Given the description of an element on the screen output the (x, y) to click on. 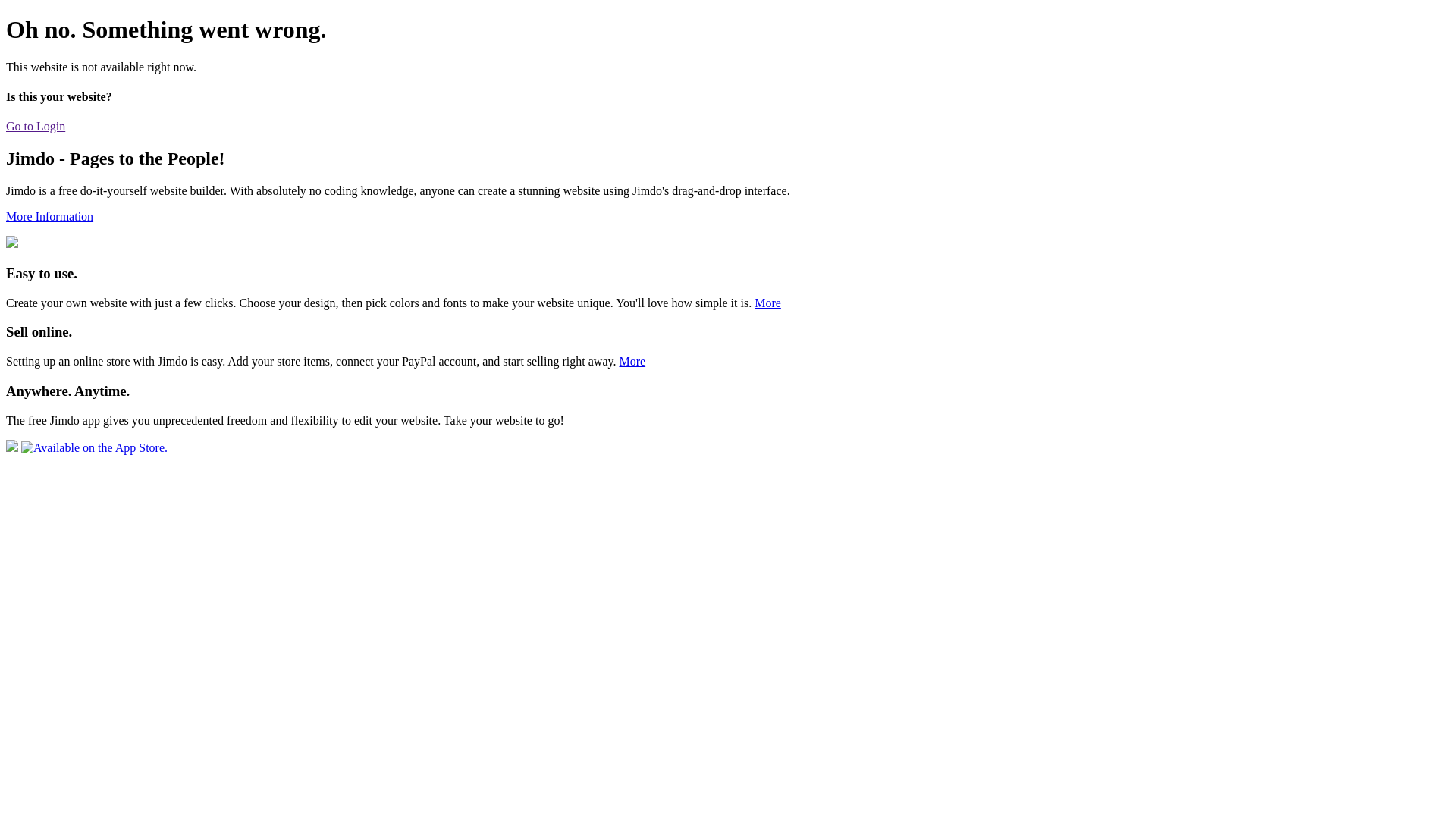
Available on the App Store. Element type: hover (86, 447)
More Element type: text (631, 360)
Go to Login Element type: text (35, 125)
More Information Element type: text (49, 216)
More Element type: text (767, 302)
